Given the description of an element on the screen output the (x, y) to click on. 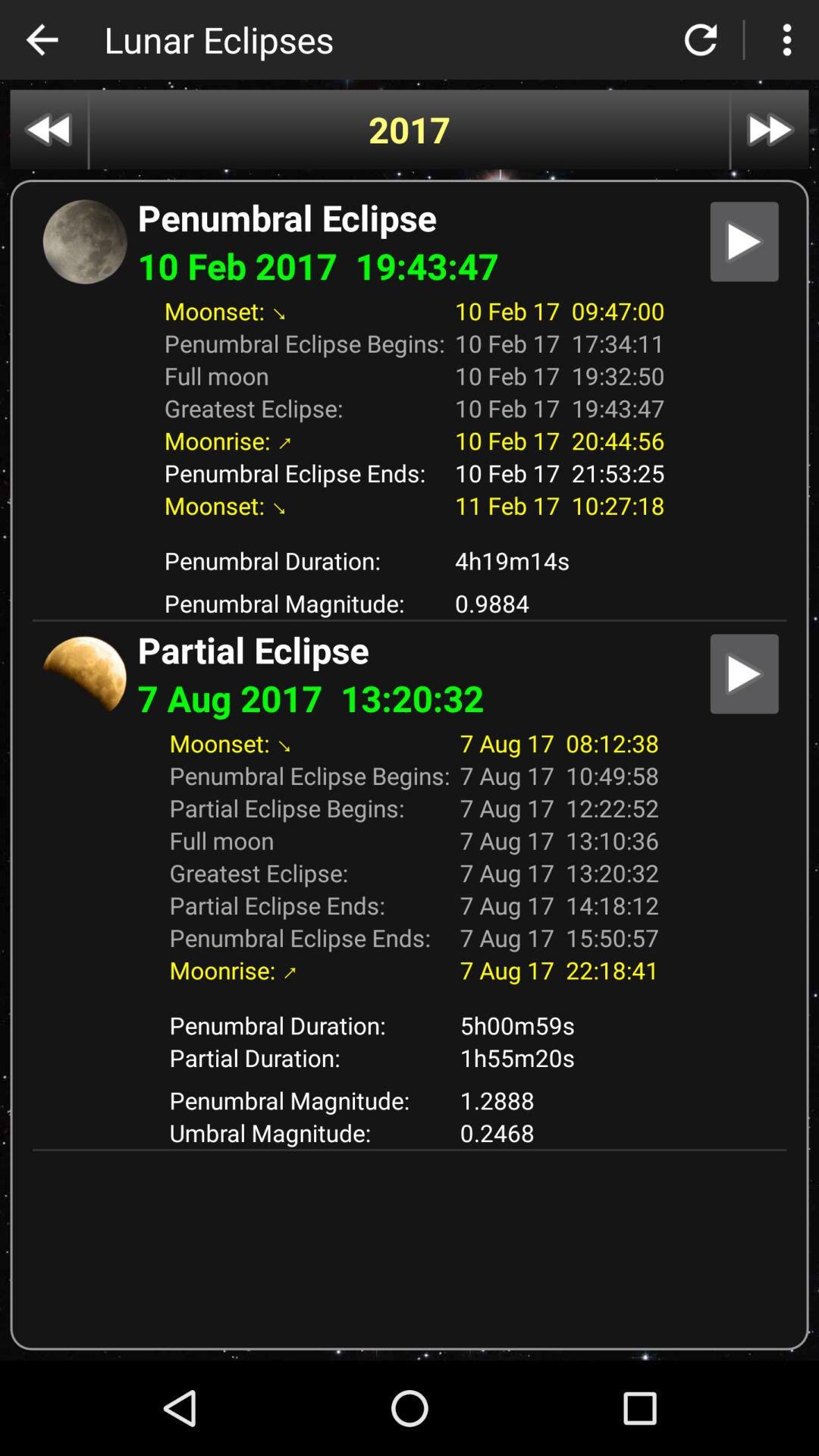
jump until the 1h55m20s item (559, 1057)
